Given the description of an element on the screen output the (x, y) to click on. 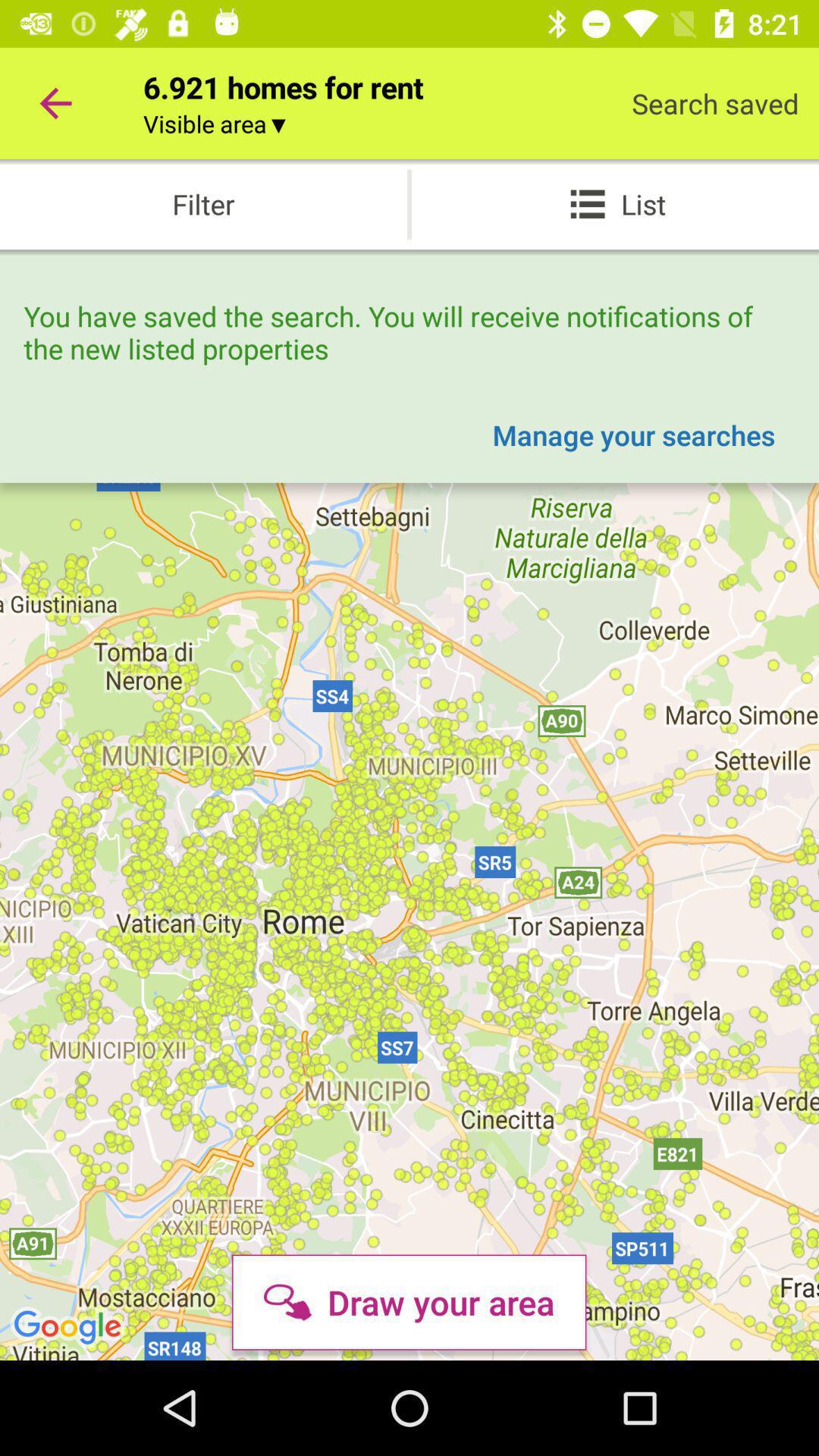
launch manage your searches item (633, 434)
